Given the description of an element on the screen output the (x, y) to click on. 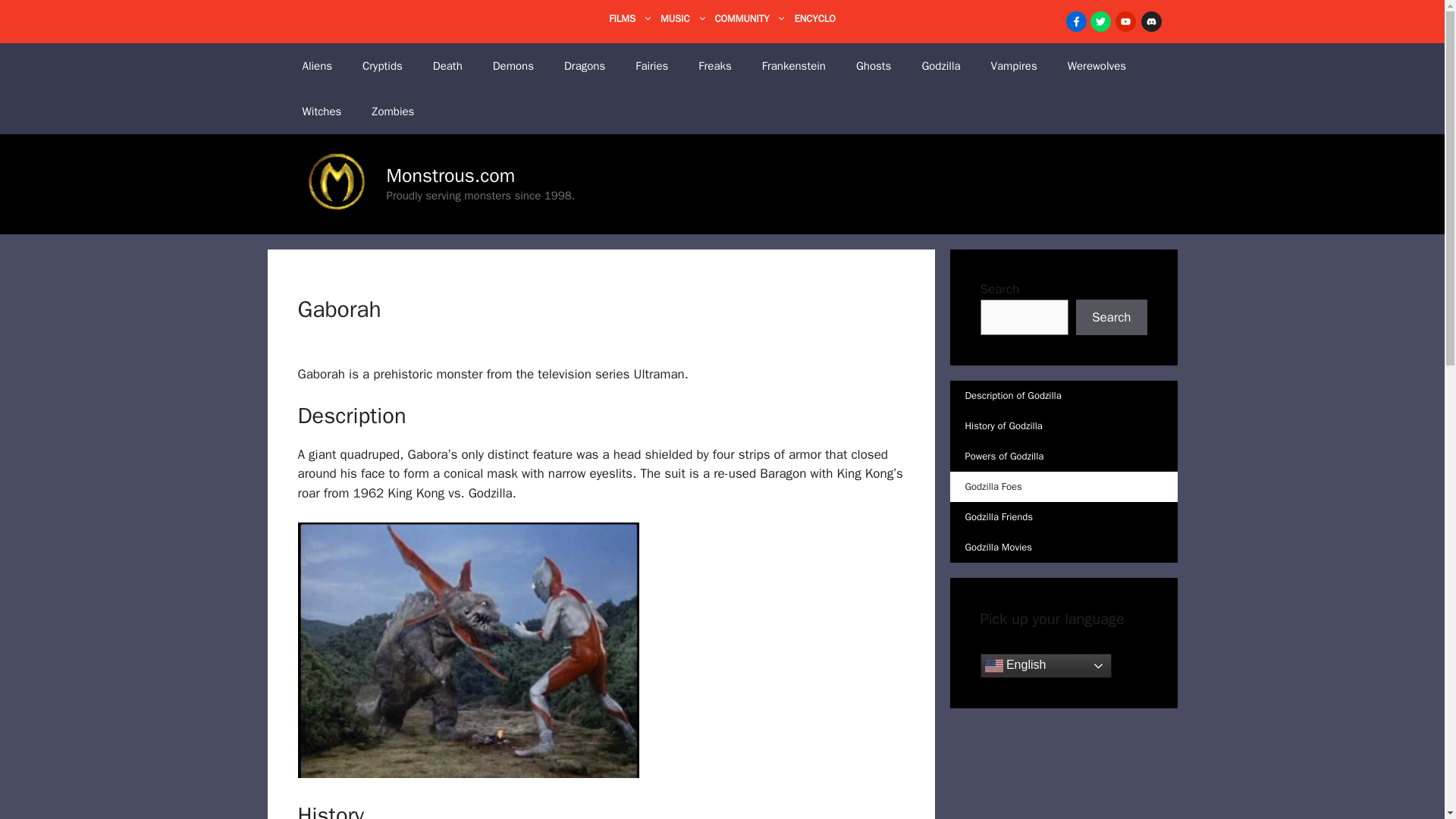
Death (447, 64)
Fairies (651, 64)
Vampires (1013, 64)
Cryptids (382, 64)
Ghosts (873, 64)
Godzilla (940, 64)
ENCYCLO (813, 18)
Demons (512, 64)
Zombies (392, 110)
Werewolves (1096, 64)
